Given the description of an element on the screen output the (x, y) to click on. 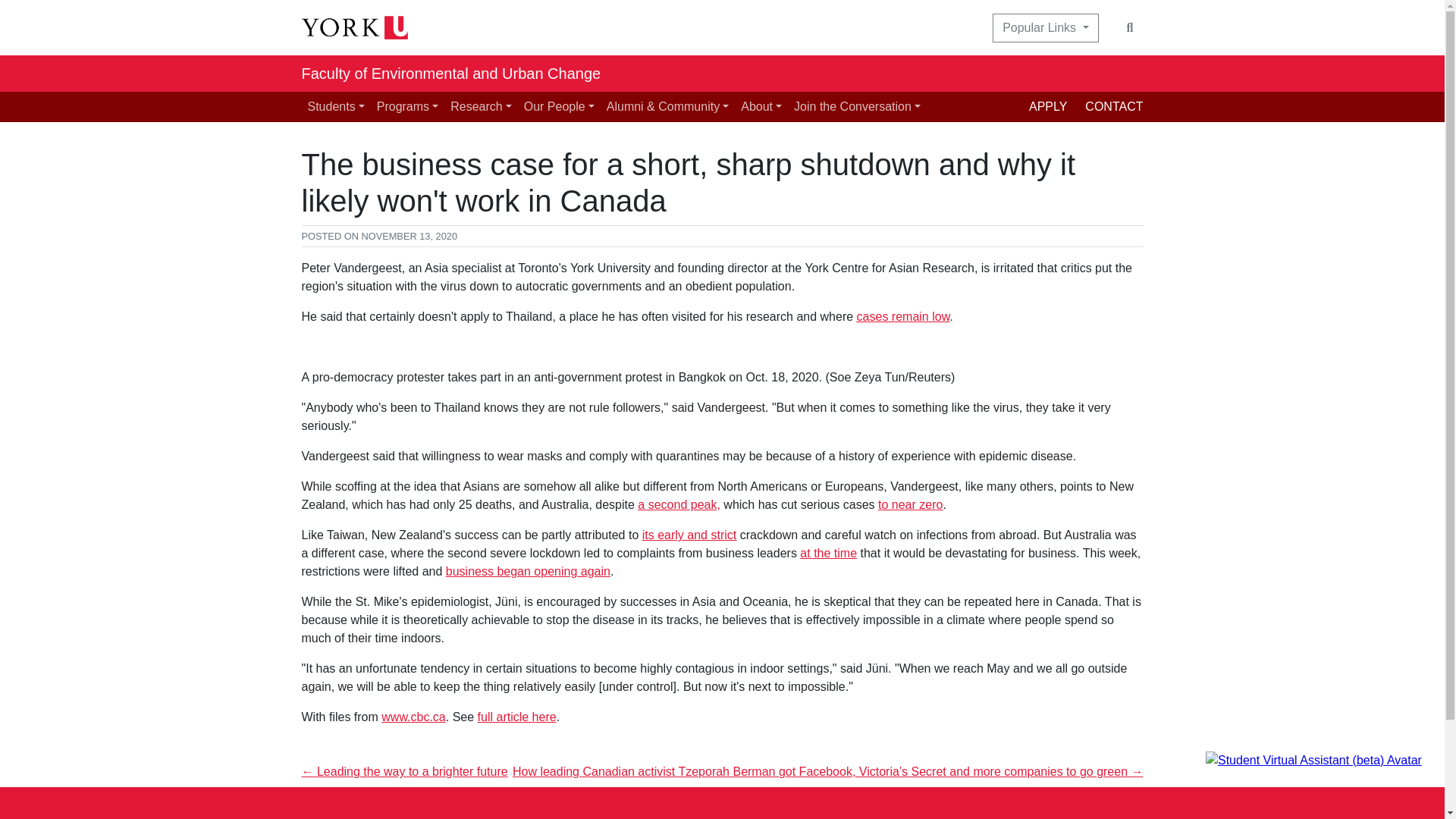
Programs (407, 106)
Research (481, 106)
Popular Links (1044, 27)
Students (336, 106)
Search (1129, 27)
Faculty of Environmental and Urban Change (451, 73)
Our People (558, 106)
